Given the description of an element on the screen output the (x, y) to click on. 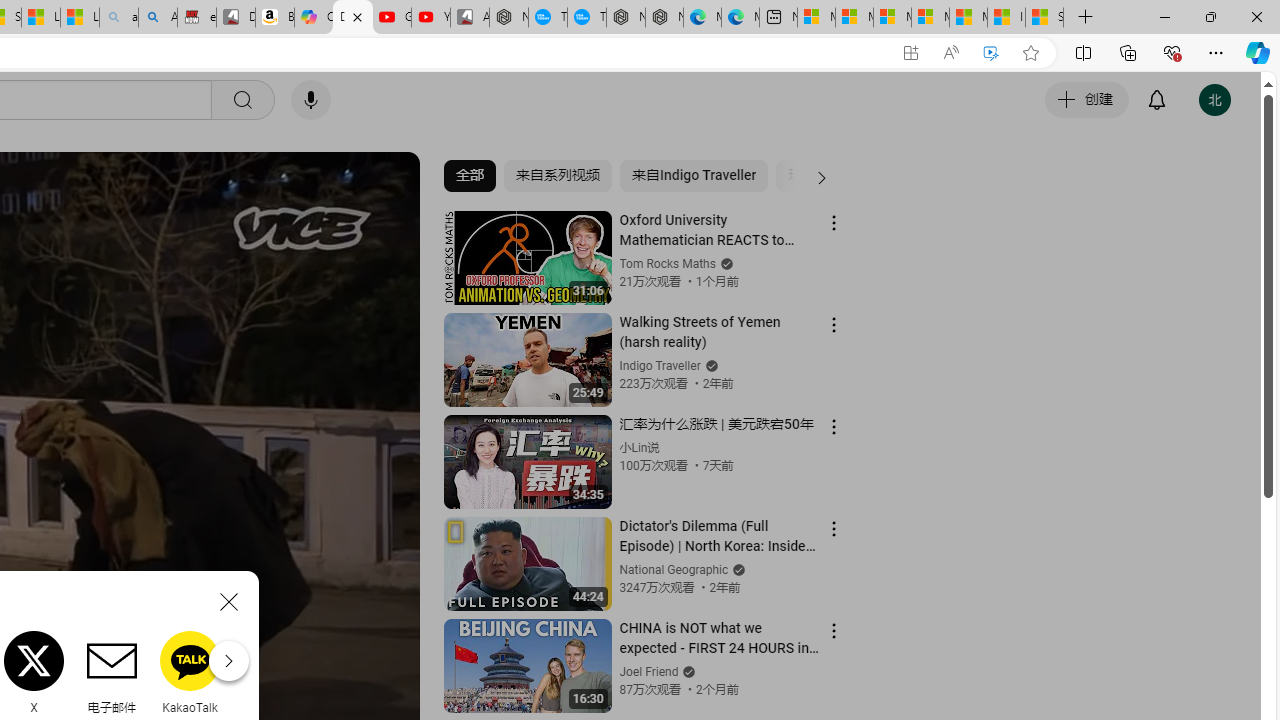
Day 1: Arriving in Yemen (surreal to be here) - YouTube (353, 17)
